Given the description of an element on the screen output the (x, y) to click on. 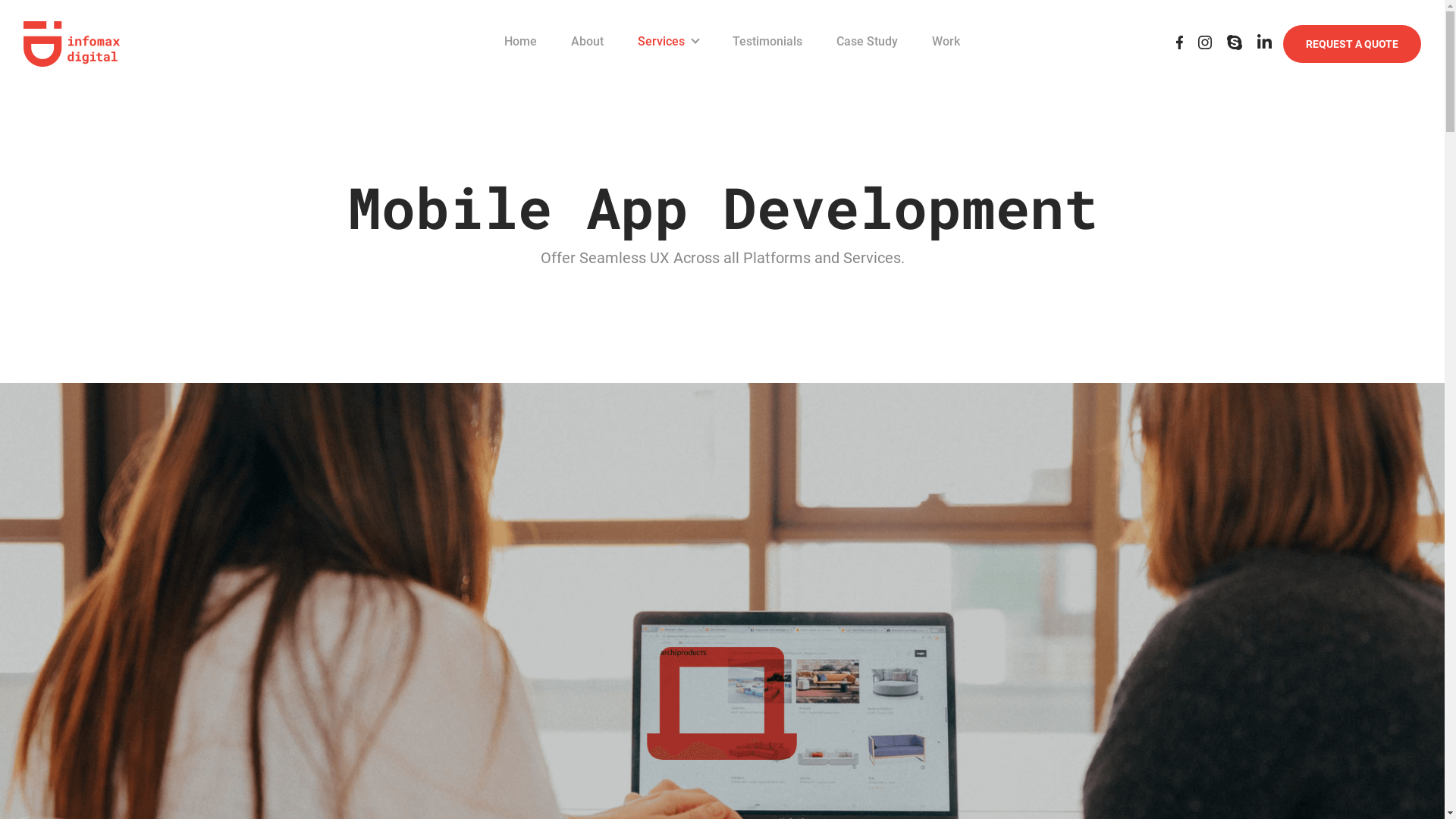
REQUEST A QUOTE Element type: text (1352, 43)
Testimonials Element type: text (767, 41)
Services Element type: text (667, 41)
Case Study Element type: text (867, 41)
About Element type: text (586, 41)
Home Element type: text (520, 41)
Work Element type: text (945, 41)
